Given the description of an element on the screen output the (x, y) to click on. 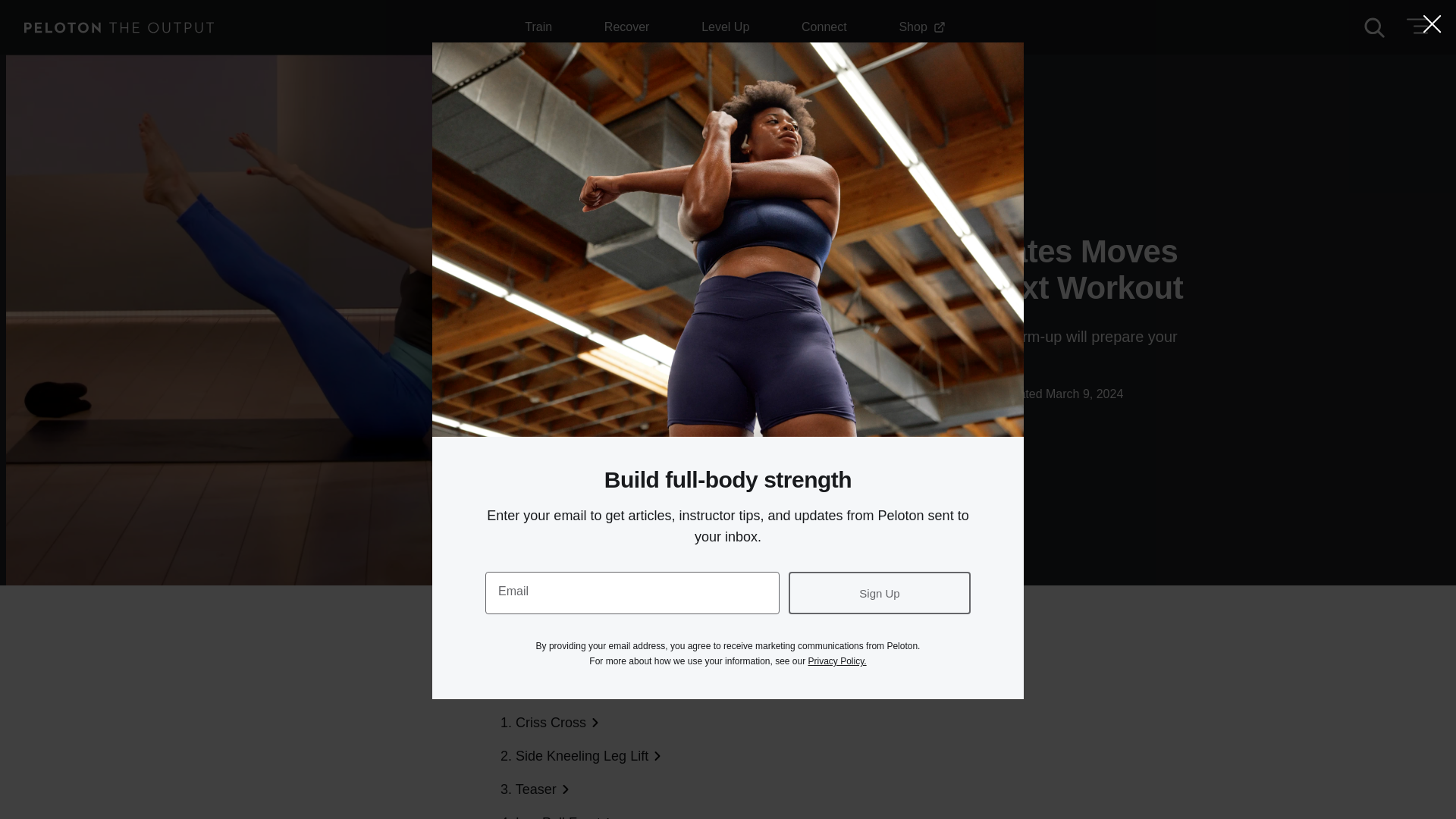
Train (537, 27)
Open in new Tab (938, 27)
Connect (824, 27)
Level Up (725, 27)
Arrow (921, 27)
Menu icon (577, 655)
Recover (1415, 27)
Menu icon (626, 27)
Home (1415, 25)
Train (810, 210)
